Given the description of an element on the screen output the (x, y) to click on. 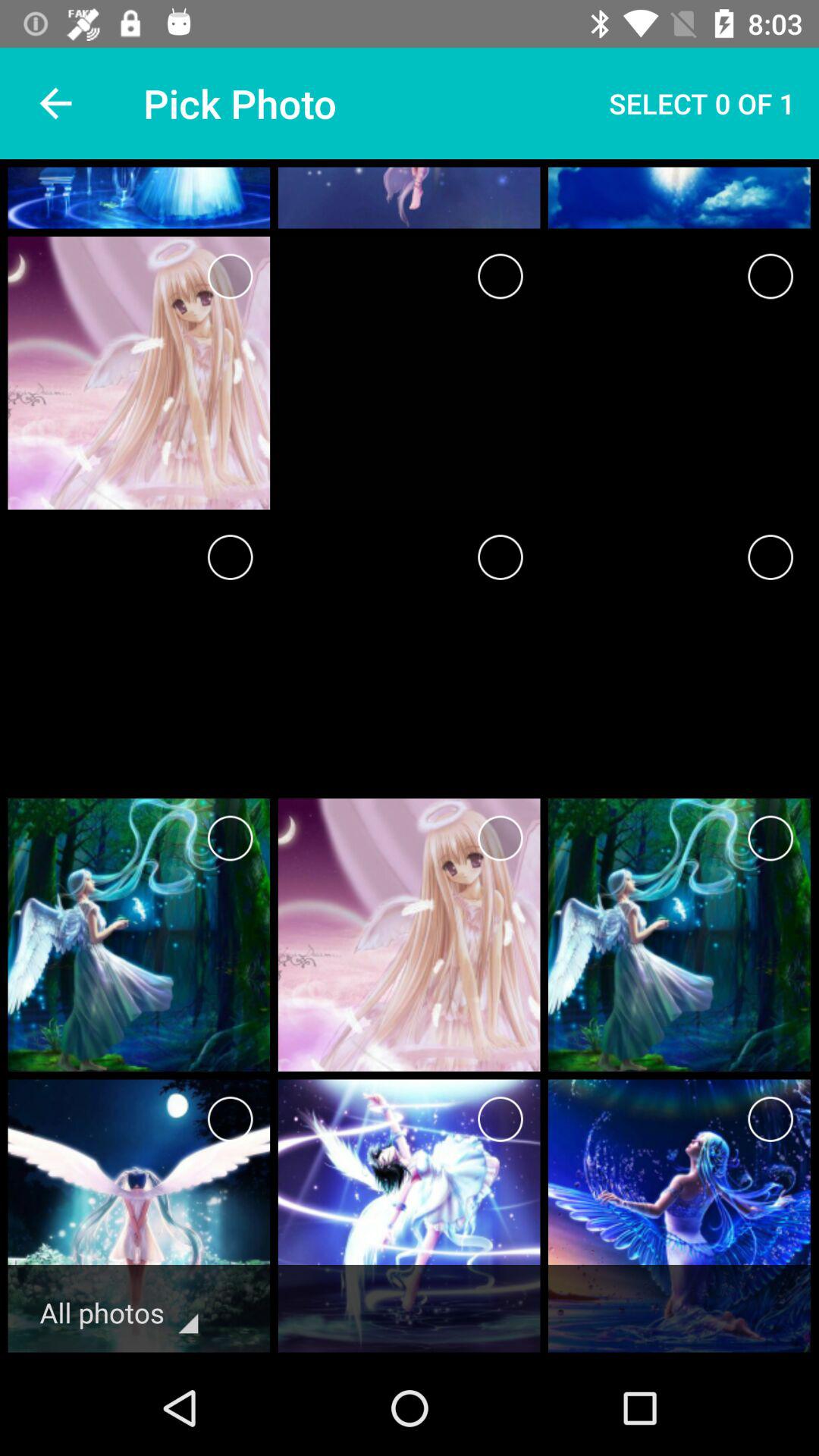
select photo (230, 557)
